Given the description of an element on the screen output the (x, y) to click on. 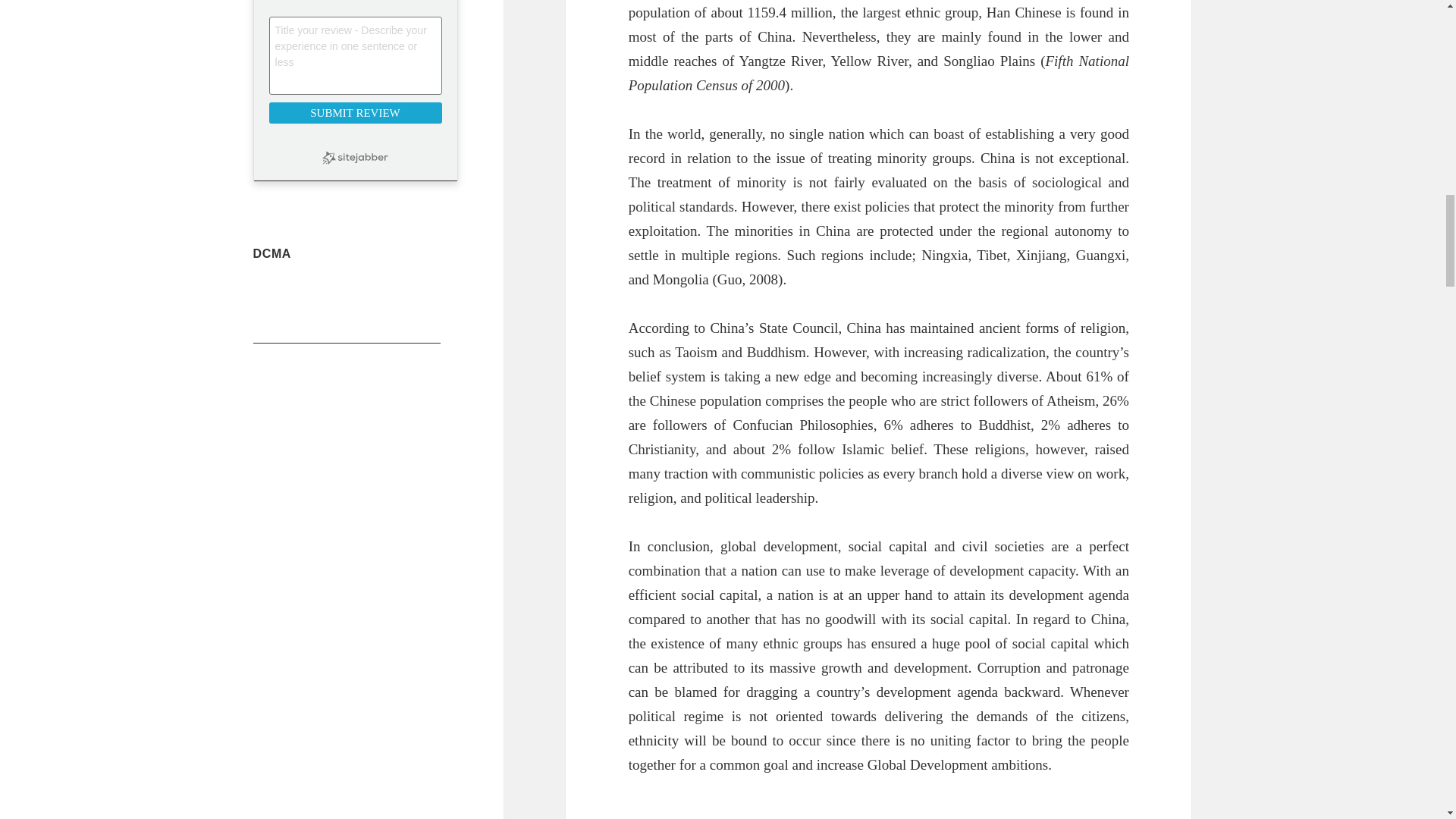
DMCA.com Protection Status (347, 336)
